Given the description of an element on the screen output the (x, y) to click on. 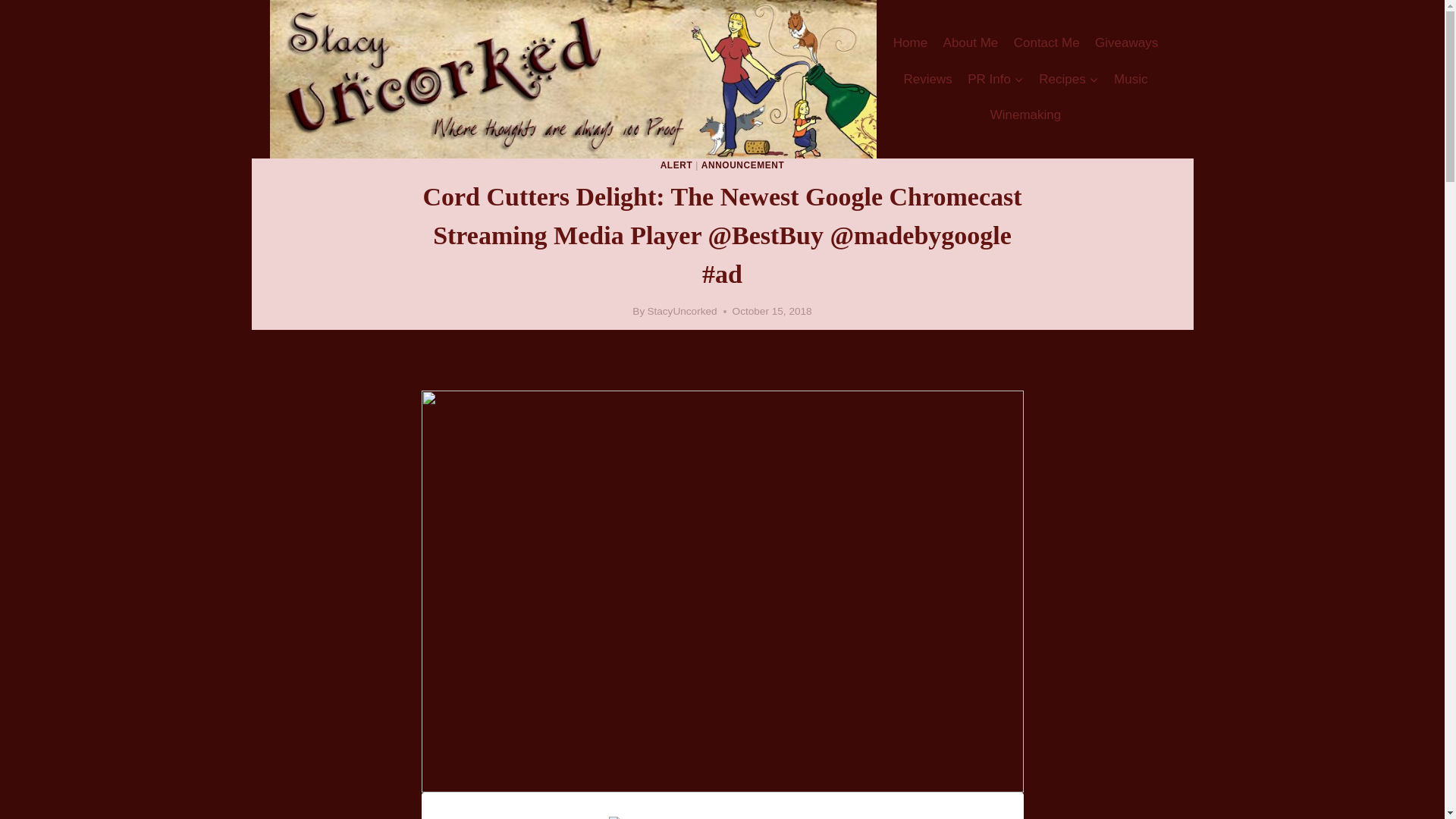
ALERT (677, 164)
Recipes (1068, 78)
PR Info (994, 78)
About Me (970, 43)
Winemaking (1025, 115)
StacyUncorked (681, 310)
Home (910, 43)
Giveaways (1126, 43)
Reviews (927, 78)
Music (1131, 78)
Contact Me (1046, 43)
ANNOUNCEMENT (742, 164)
